Given the description of an element on the screen output the (x, y) to click on. 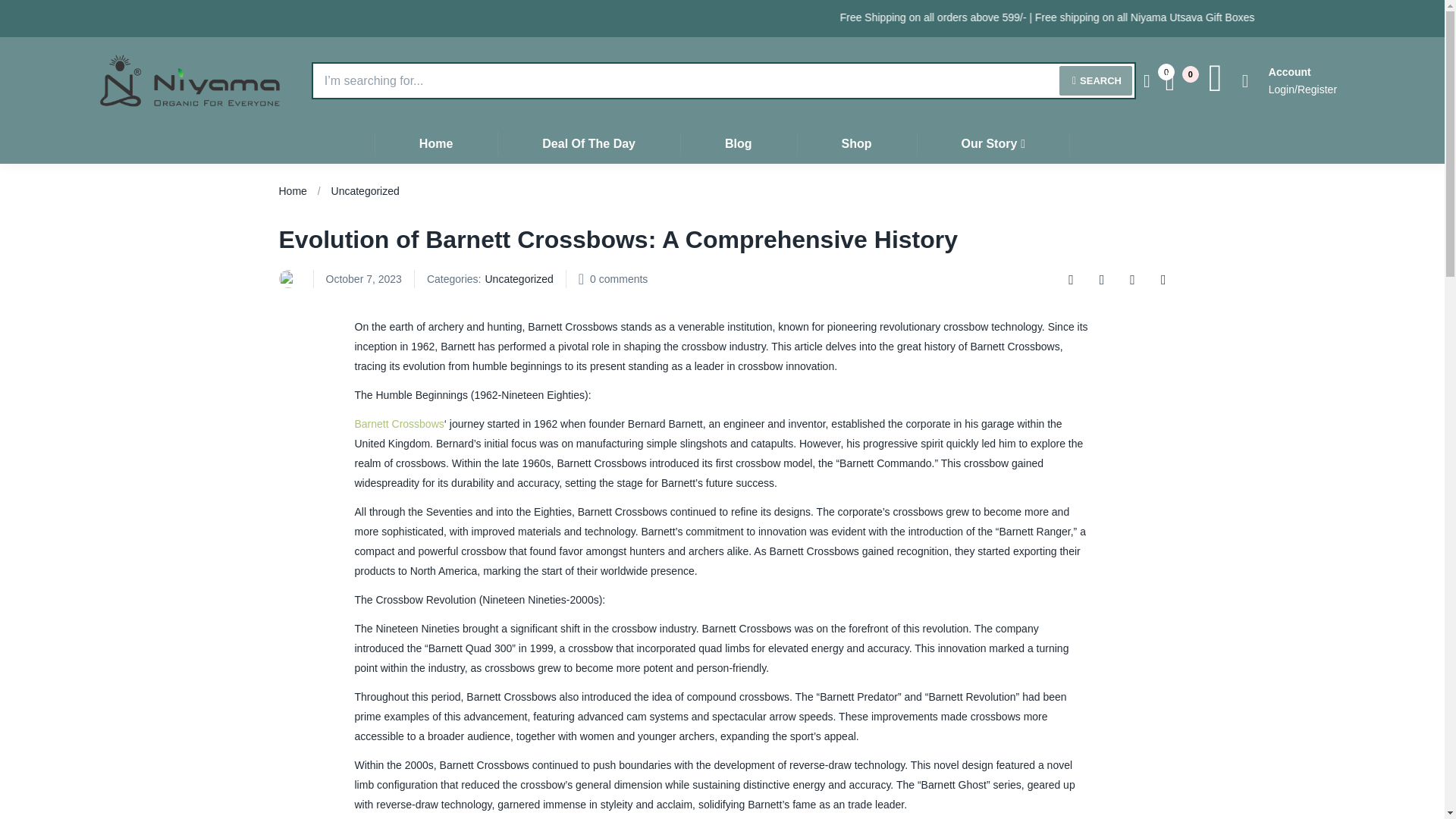
Uncategorized (364, 191)
Deal Of The Day (588, 143)
View your shopping cart (1177, 80)
0 (1177, 80)
Shop (856, 143)
Uncategorized (518, 279)
Blog (737, 143)
0 comments (618, 279)
View all posts in Uncategorized (518, 279)
Home (435, 143)
Our Story (993, 143)
October 7, 2023 (363, 279)
Home (293, 191)
SEARCH (1095, 80)
